Given the description of an element on the screen output the (x, y) to click on. 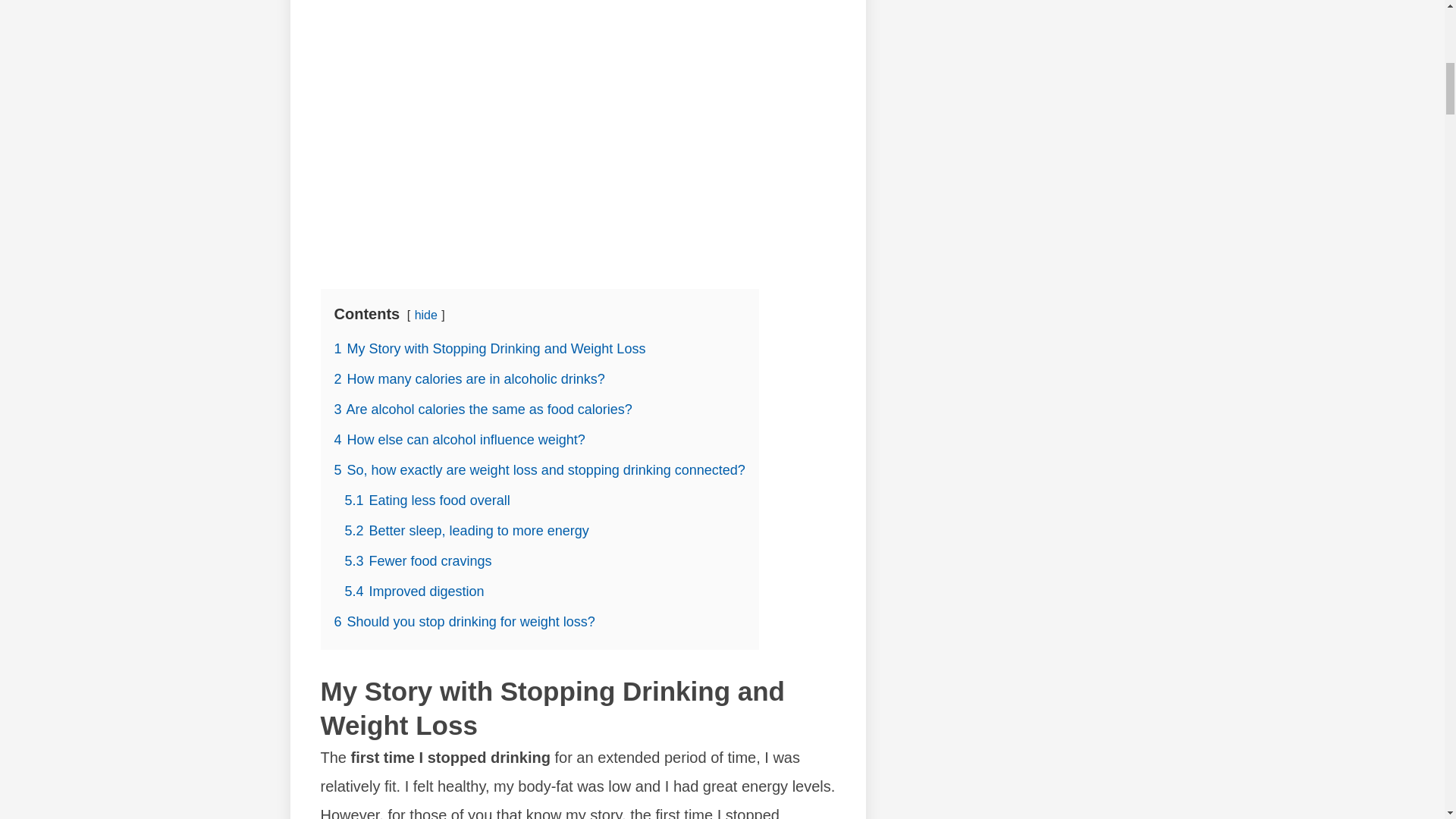
6 Should you stop drinking for weight loss? (463, 621)
5.2 Better sleep, leading to more energy (465, 530)
1 My Story with Stopping Drinking and Weight Loss (489, 348)
hide (426, 314)
5.3 Fewer food cravings (417, 560)
5.1 Eating less food overall (426, 500)
5.4 Improved digestion (413, 590)
4 How else can alcohol influence weight? (459, 439)
3 Are alcohol calories the same as food calories? (482, 409)
